Given the description of an element on the screen output the (x, y) to click on. 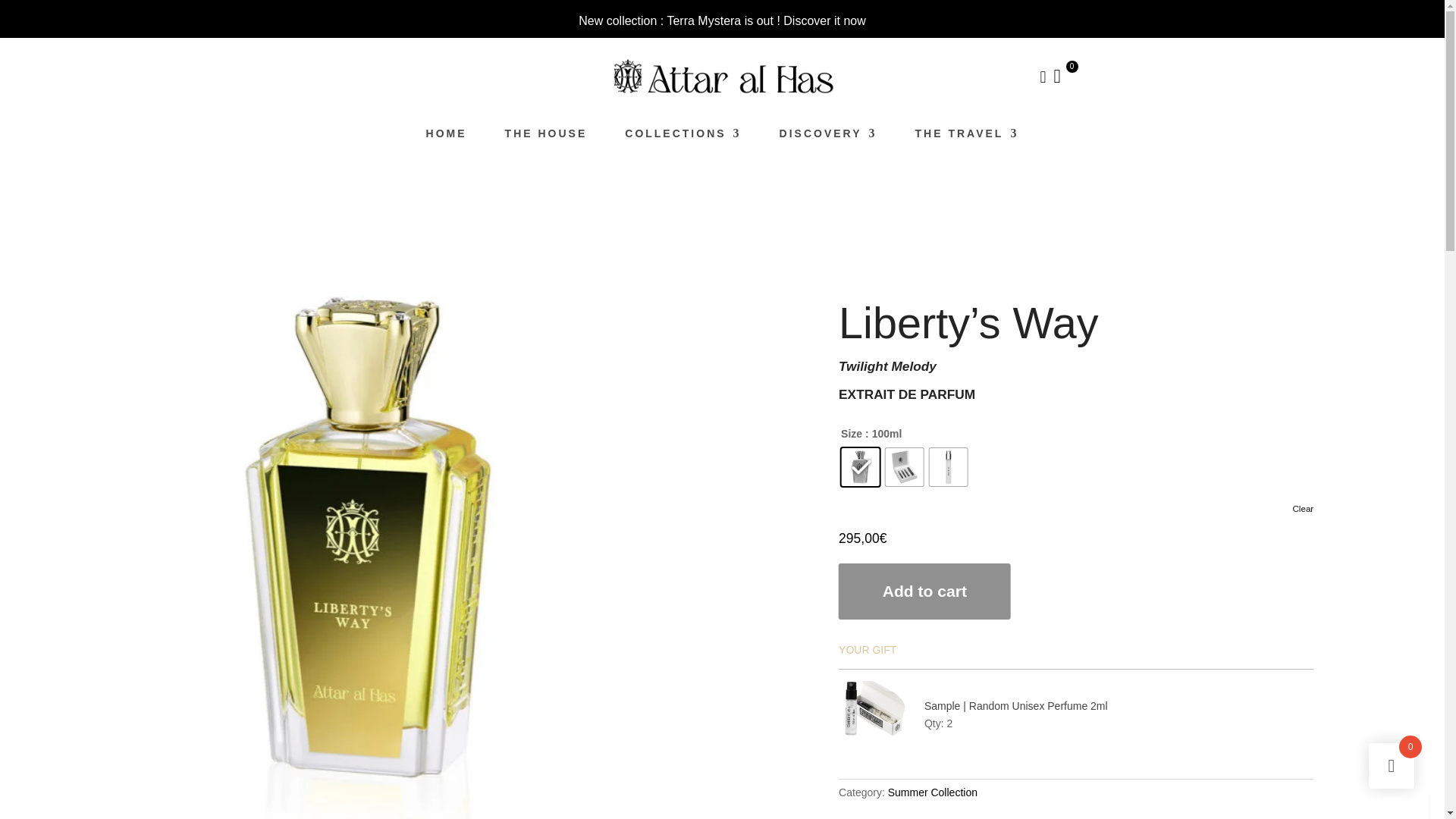
HOME (446, 135)
THE HOUSE (546, 135)
11ml (1172, 466)
100ml (1163, 466)
DISCOVERY (827, 135)
THE TRAVEL (967, 135)
COLLECTIONS (682, 135)
3x11ml Set (1174, 466)
logo-attaralhas (722, 75)
